Given the description of an element on the screen output the (x, y) to click on. 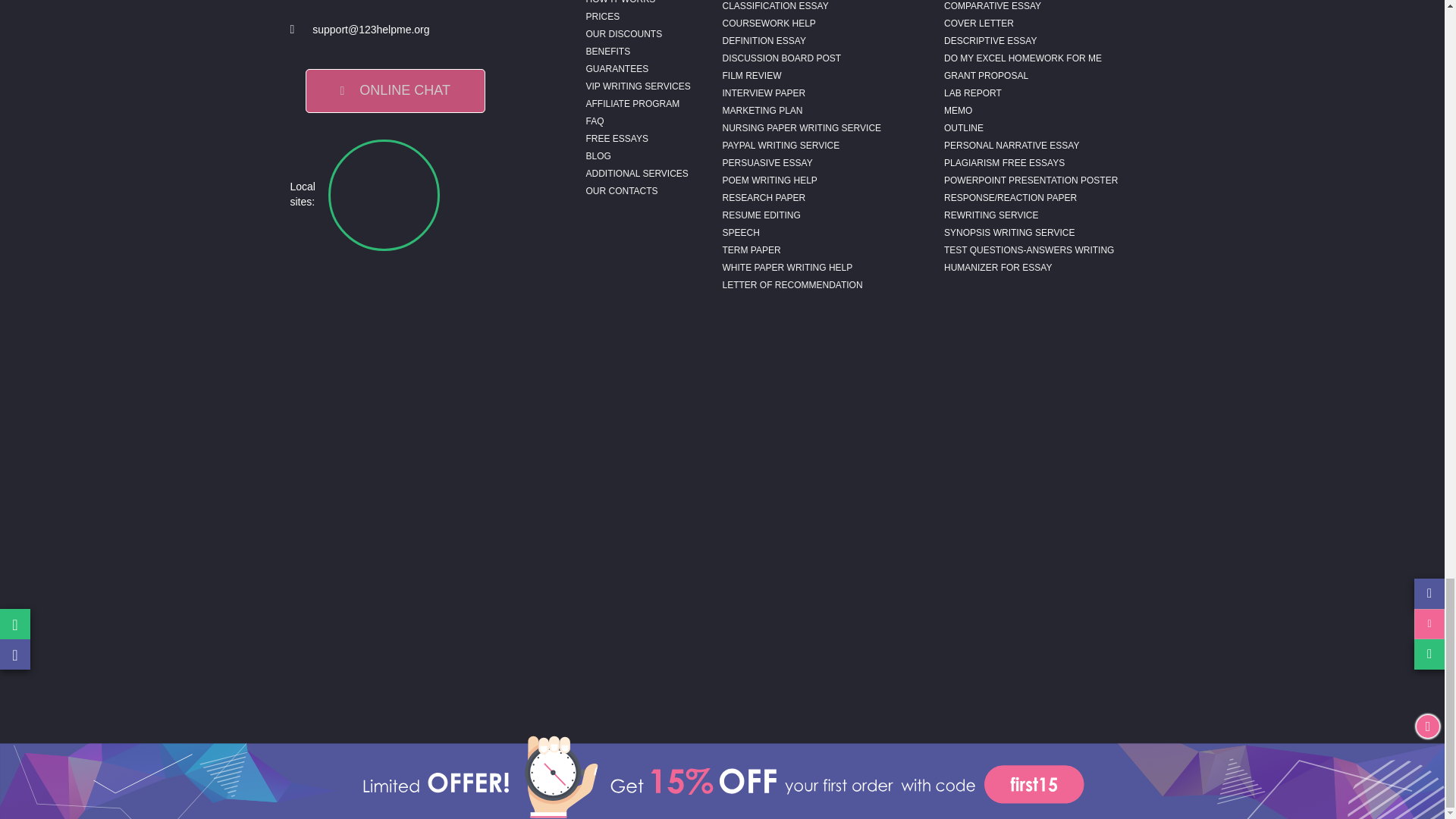
DMCA.com Protection Status (425, 706)
ca.123helpme.org (506, 194)
